Given the description of an element on the screen output the (x, y) to click on. 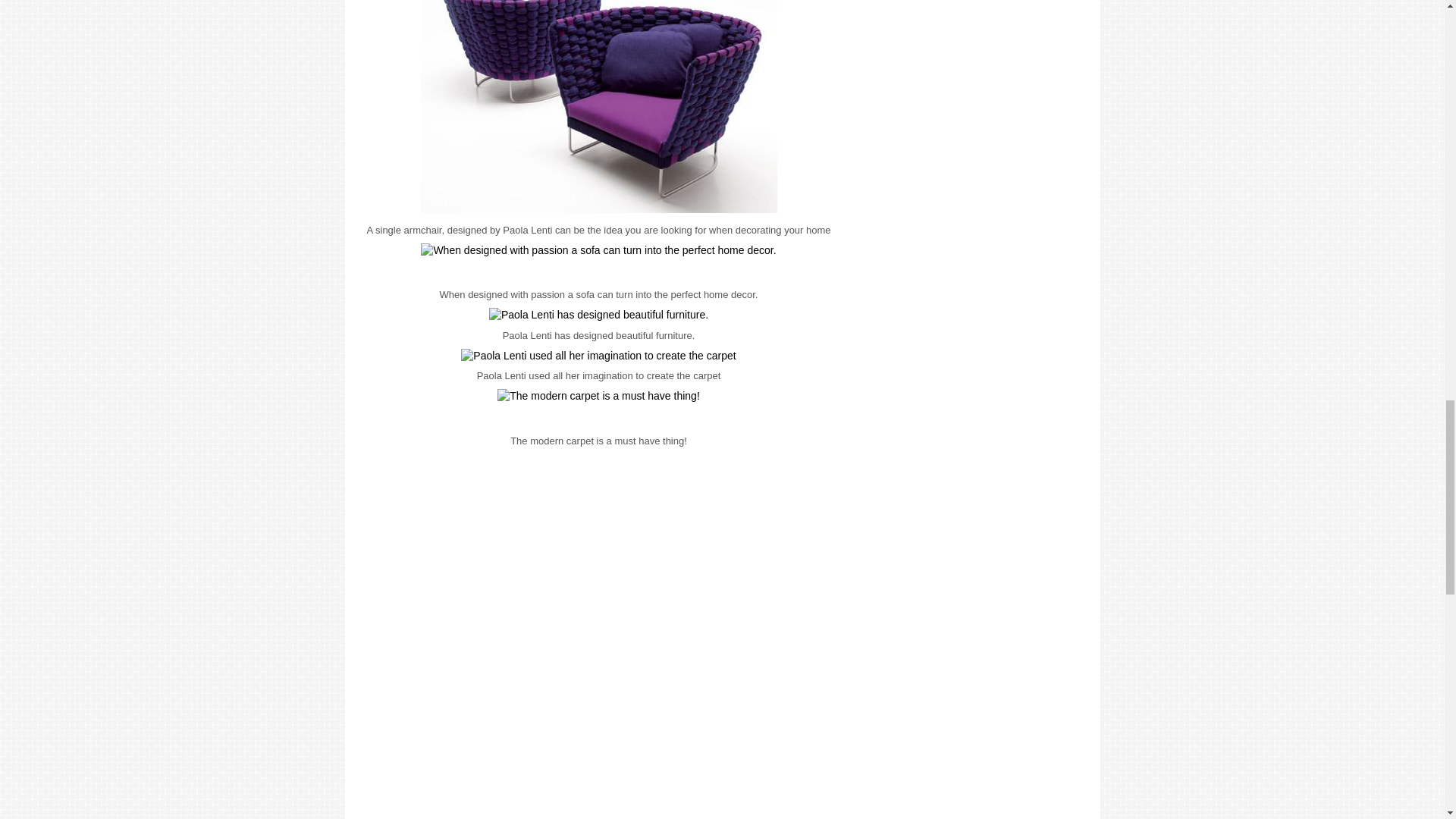
carpet (598, 355)
designed beautiful furniture (598, 314)
perfect home decor (598, 250)
A single armchair (598, 106)
The modern carpet (598, 396)
